Given the description of an element on the screen output the (x, y) to click on. 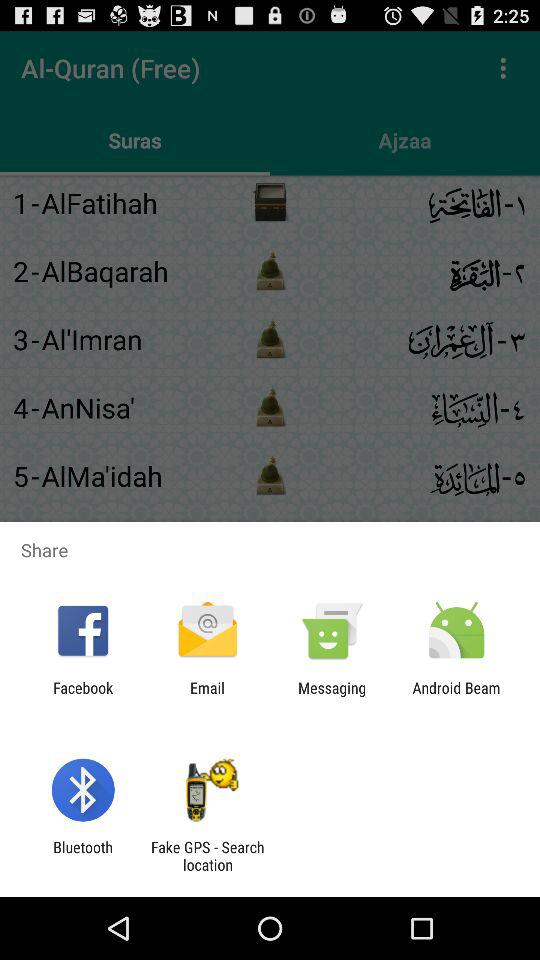
turn on icon to the right of bluetooth icon (207, 856)
